Given the description of an element on the screen output the (x, y) to click on. 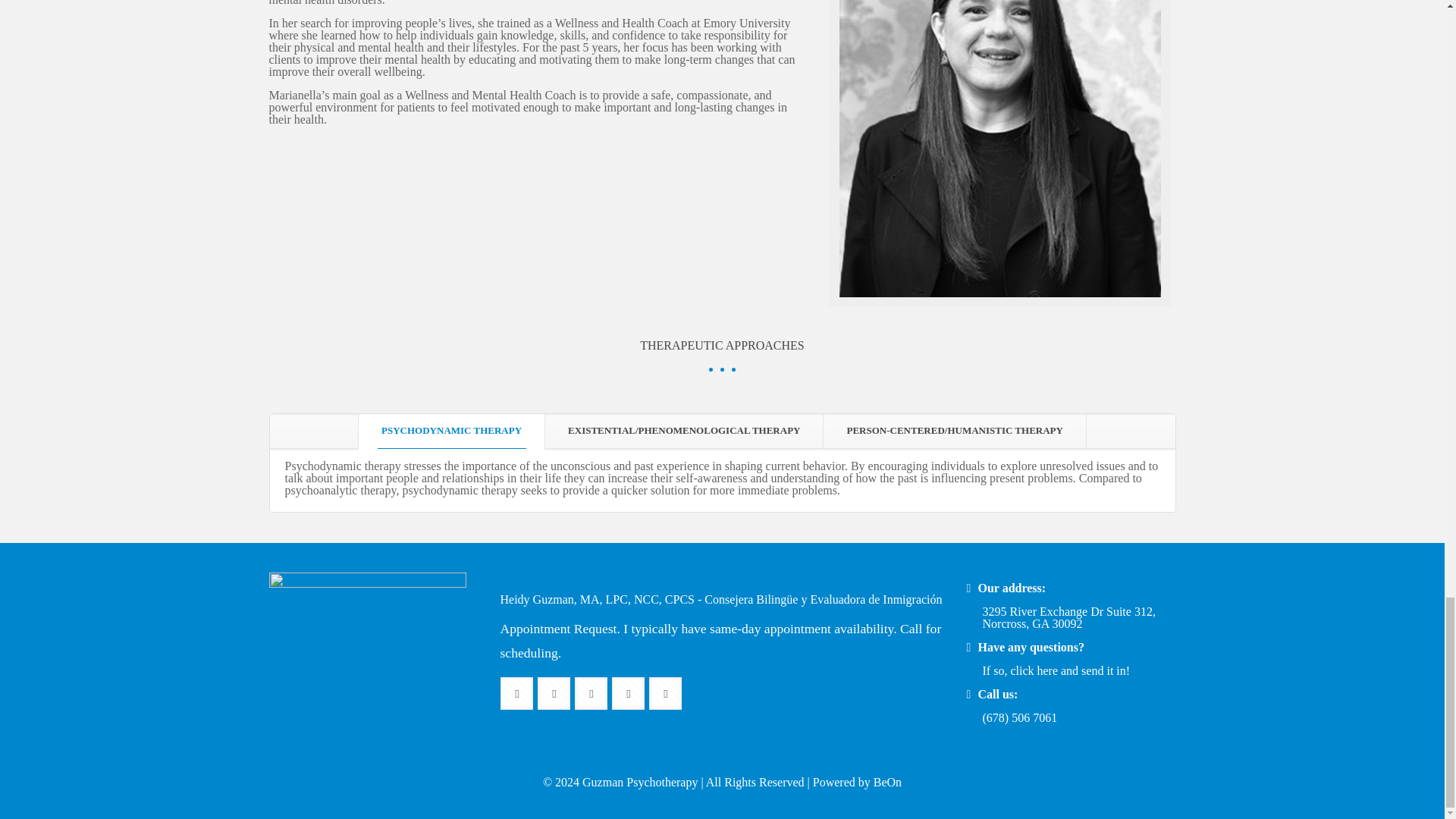
If so, click here and send it in! (1056, 670)
BeOn (887, 781)
3295 River Exchange Dr Suite 312, Norcross, GA 30092 (1069, 617)
PSYCHODYNAMIC THERAPY (451, 430)
